Given the description of an element on the screen output the (x, y) to click on. 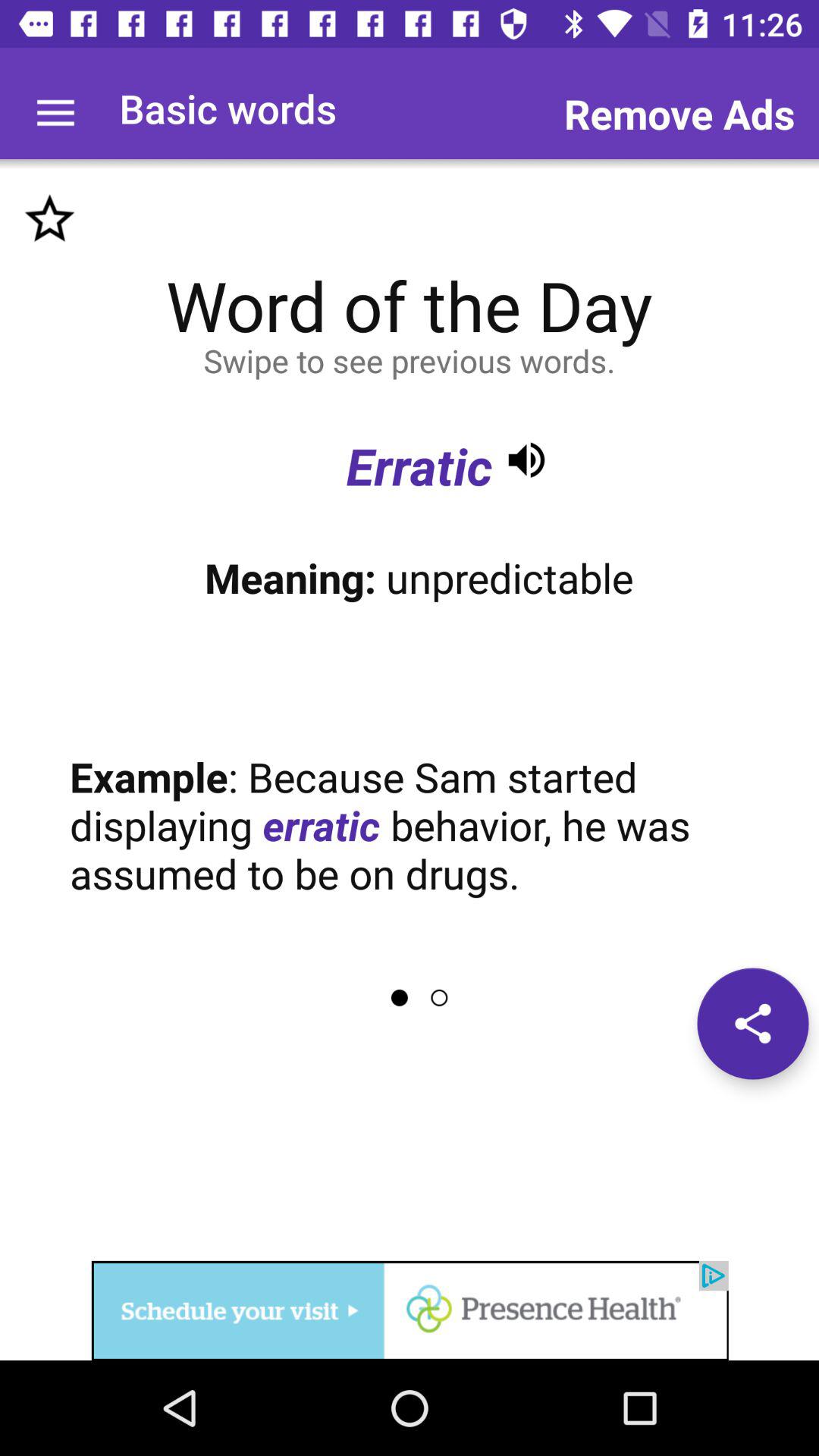
click advertisement (409, 1310)
